Given the description of an element on the screen output the (x, y) to click on. 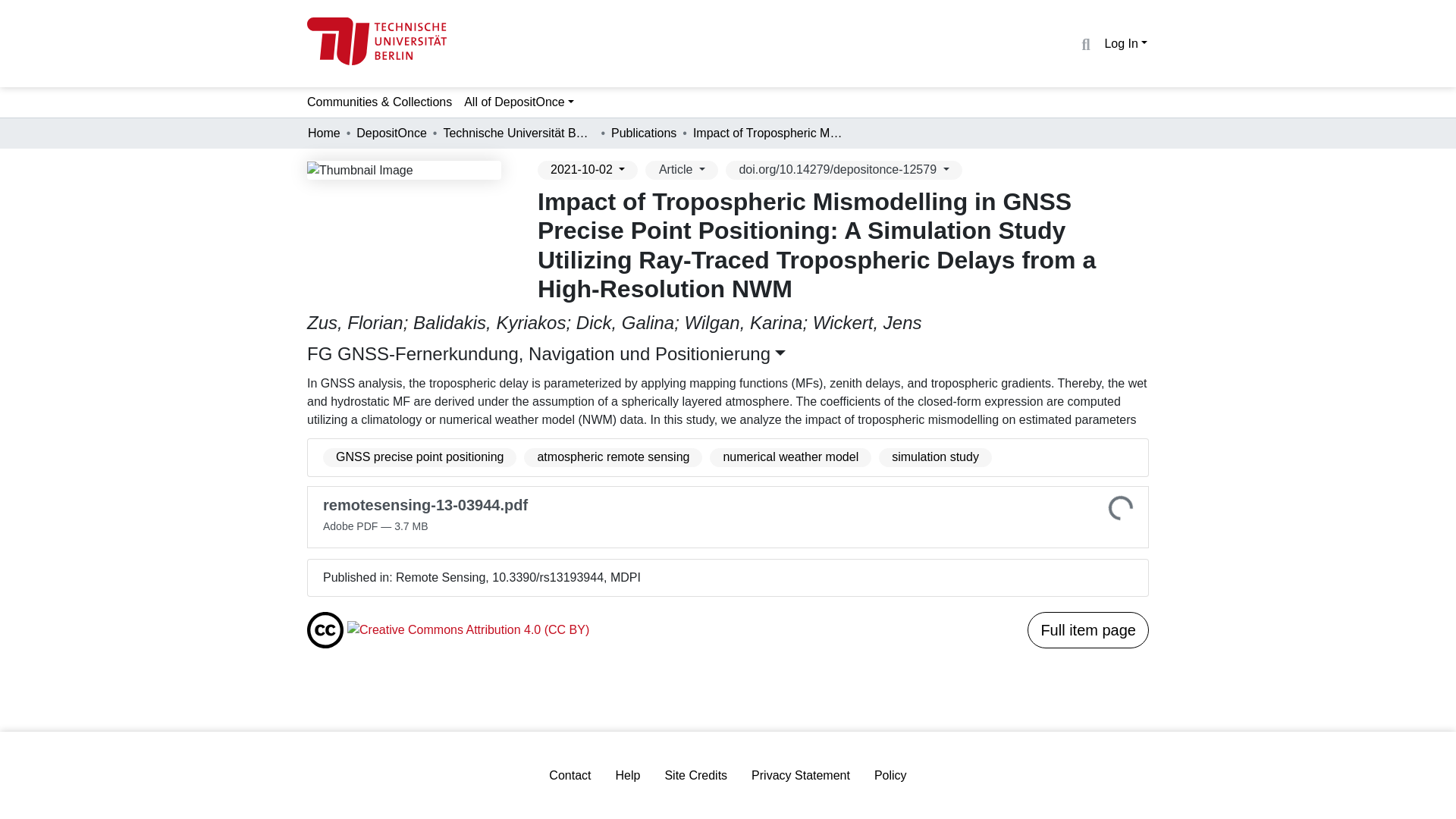
Zus, Florian (355, 322)
2021-10-02 (587, 169)
Home (323, 133)
Dick, Galina (625, 322)
Article (681, 169)
Contact (569, 775)
DepositOnce (391, 133)
Log In (1125, 42)
Search (1084, 45)
simulation study (935, 456)
GNSS precise point positioning (419, 456)
TU Berlin (376, 40)
Balidakis, Kyriakos (489, 322)
Wilgan, Karina (743, 322)
Site Credits (695, 775)
